Given the description of an element on the screen output the (x, y) to click on. 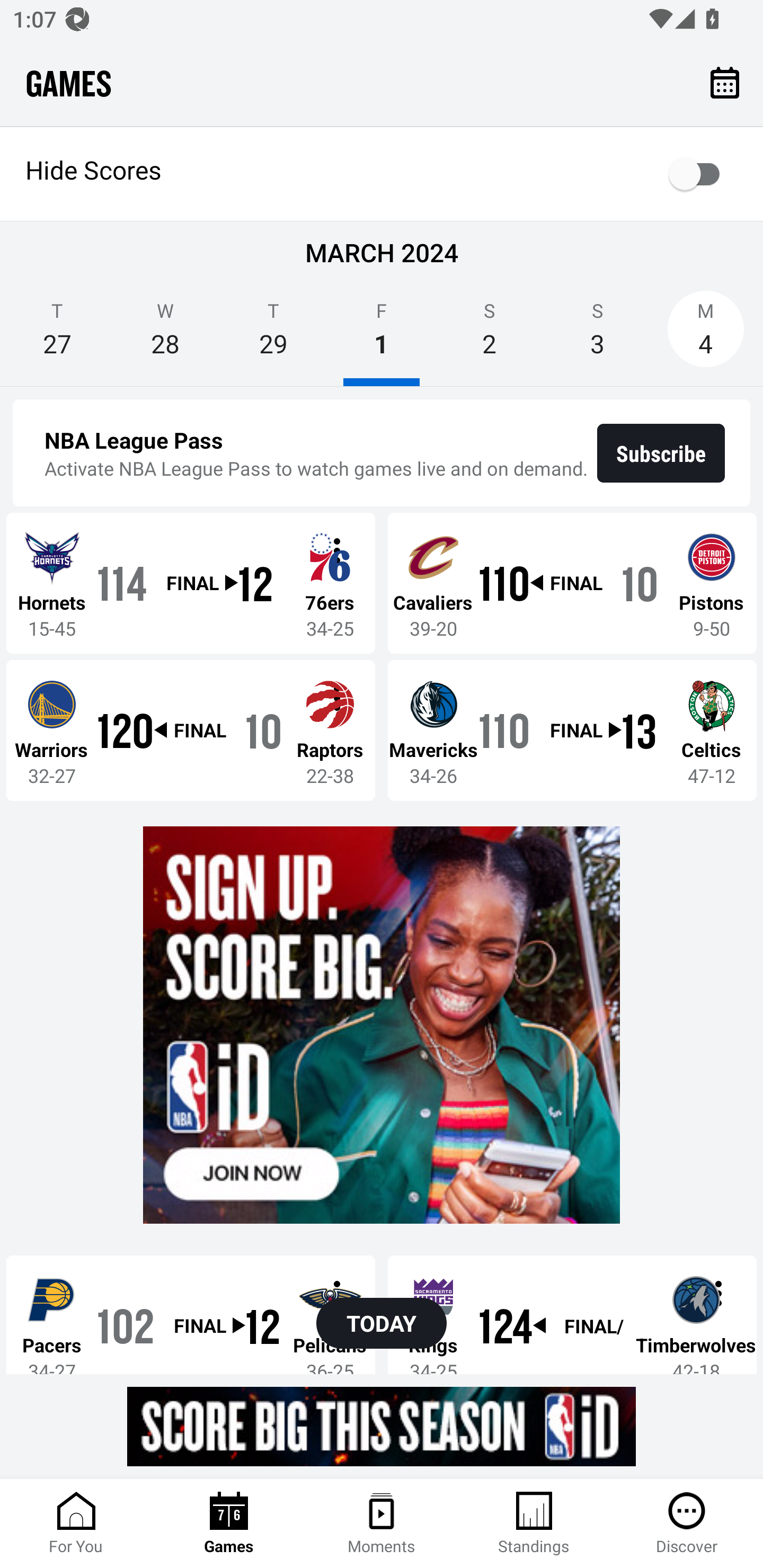
Calendar (724, 81)
Hide Scores (381, 174)
T 27 (57, 334)
W 28 (165, 334)
T 29 (273, 334)
F 1 (381, 334)
S 2 (489, 334)
S 3 (597, 334)
M 4 (705, 334)
Subscribe (660, 452)
TODAY (381, 1323)
For You (76, 1523)
Moments (381, 1523)
Standings (533, 1523)
Discover (686, 1523)
